Given the description of an element on the screen output the (x, y) to click on. 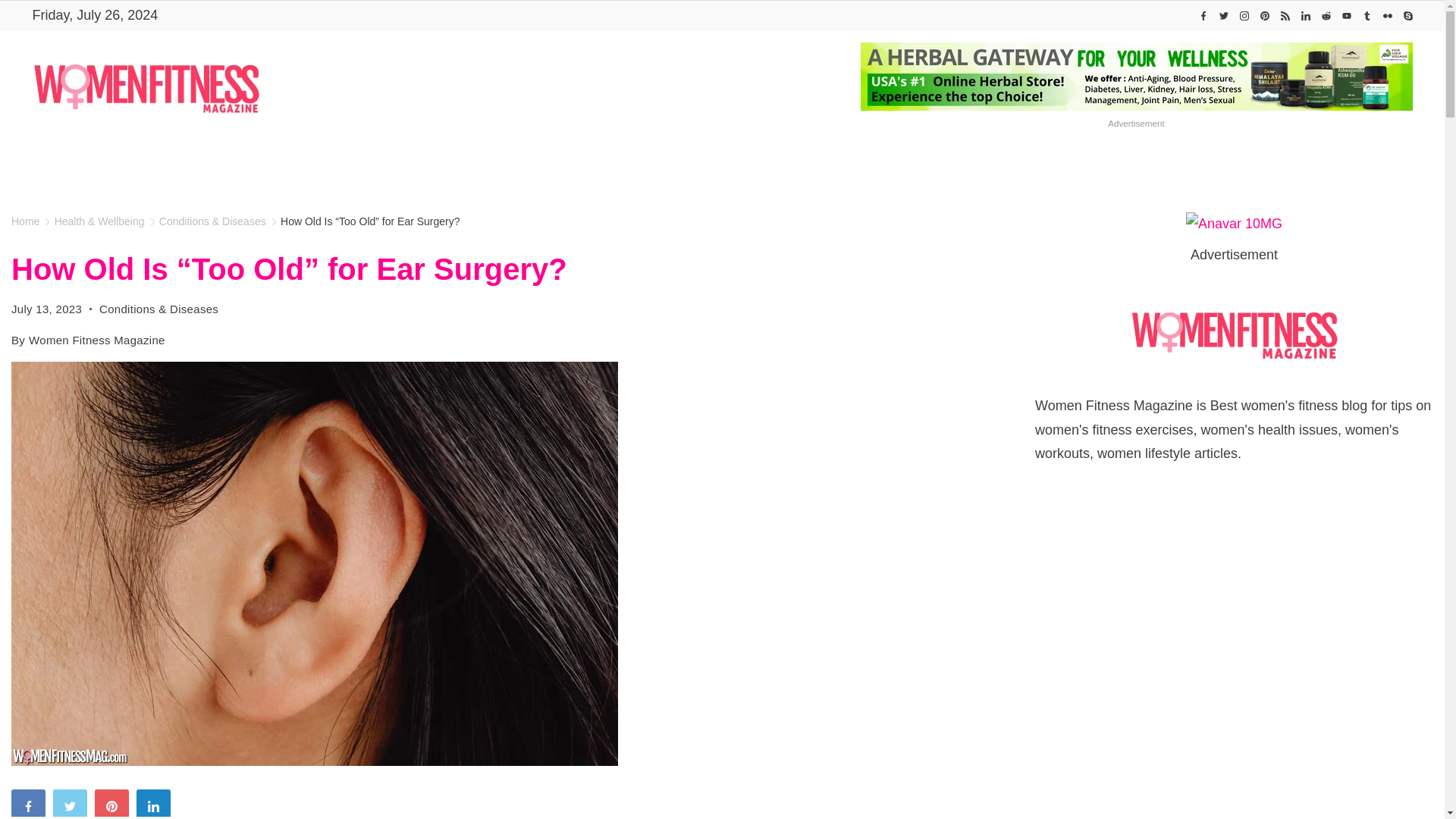
Home (415, 165)
Women Fitness Magazine  (415, 165)
